Given the description of an element on the screen output the (x, y) to click on. 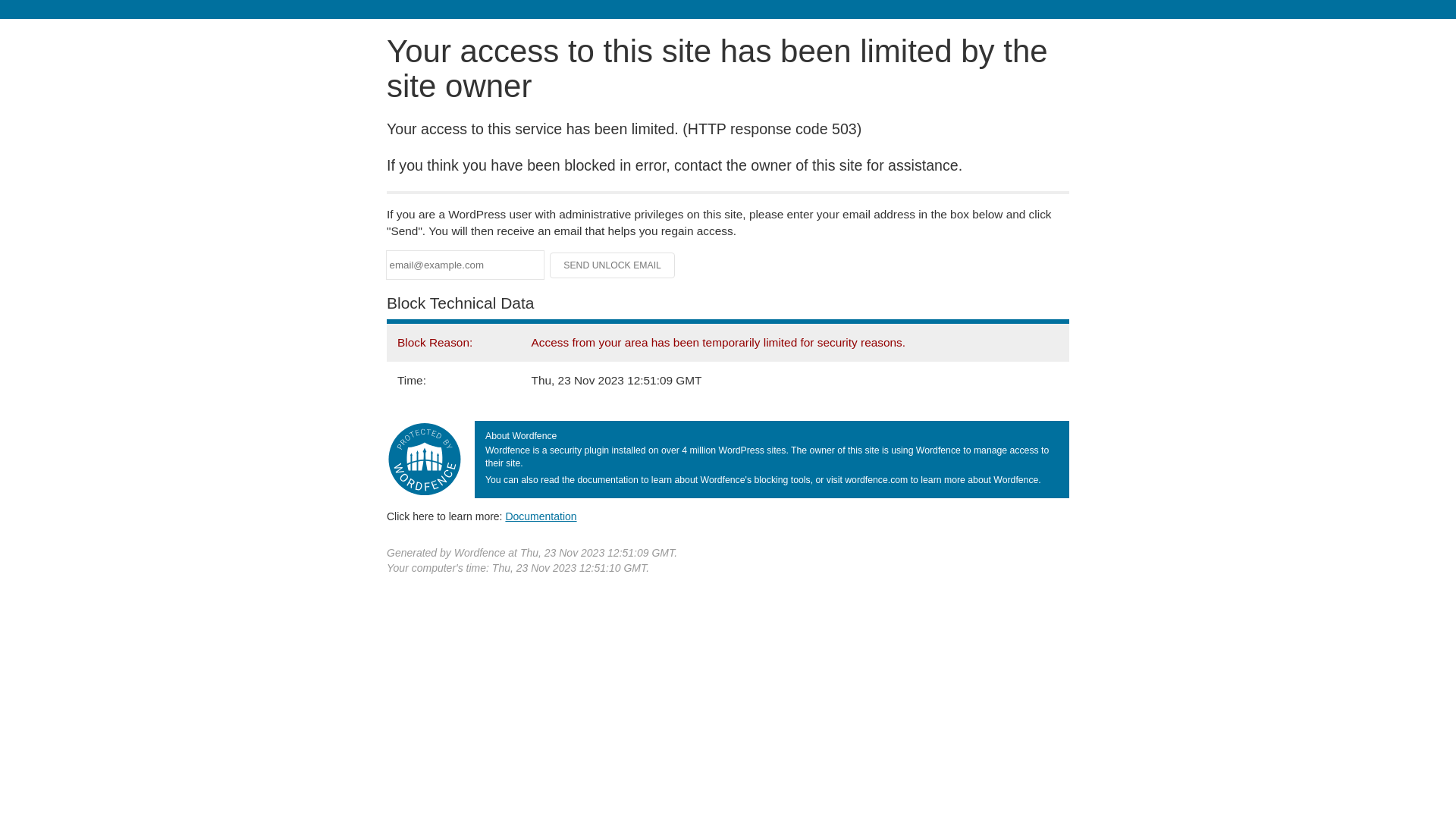
Documentation Element type: text (540, 516)
Send Unlock Email Element type: text (612, 265)
